Given the description of an element on the screen output the (x, y) to click on. 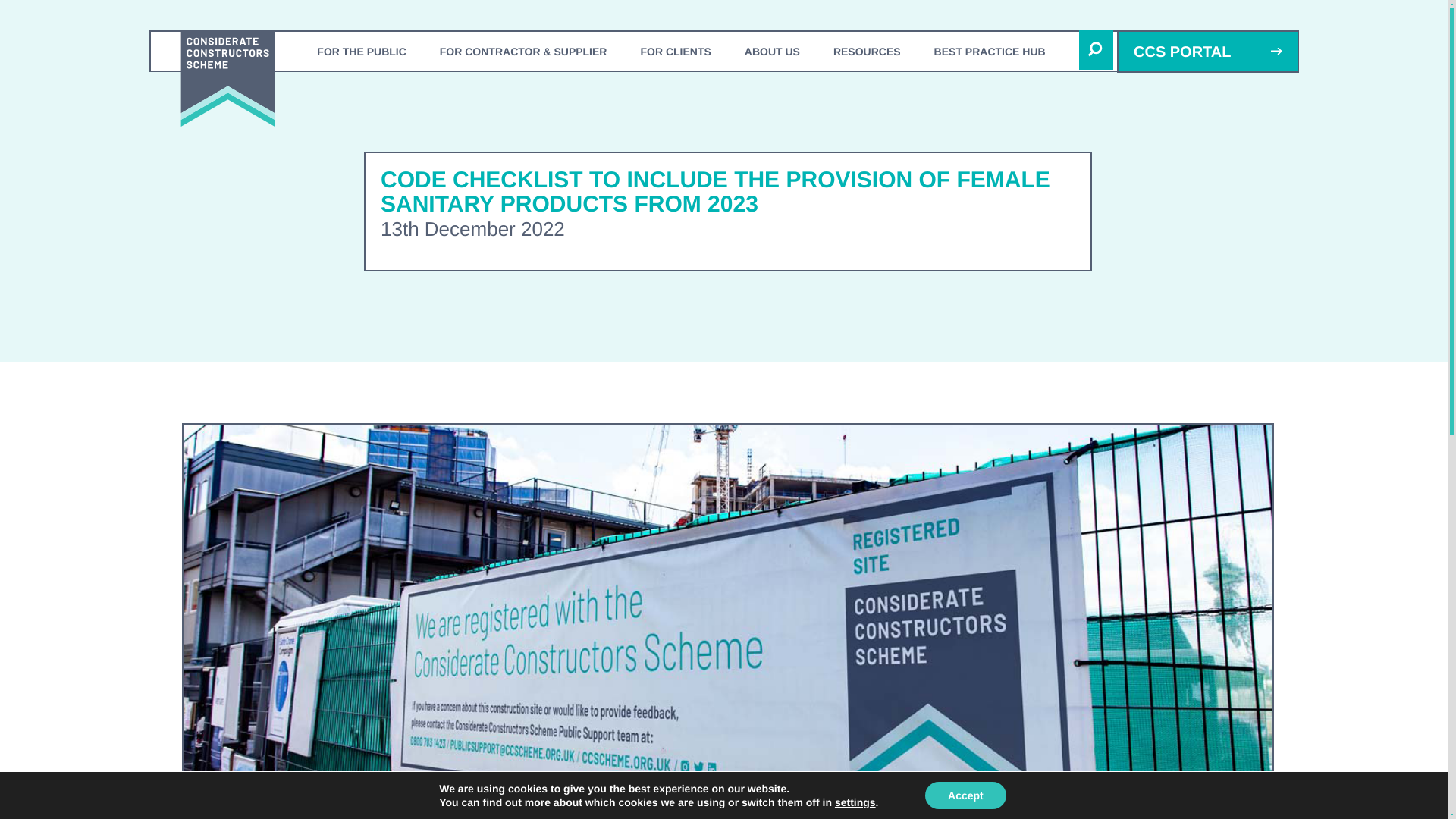
FOR CLIENTS (674, 50)
CCS PORTAL (1207, 51)
RESOURCES (866, 50)
FOR THE PUBLIC (360, 50)
BEST PRACTICE HUB (989, 50)
ABOUT US (772, 50)
